Given the description of an element on the screen output the (x, y) to click on. 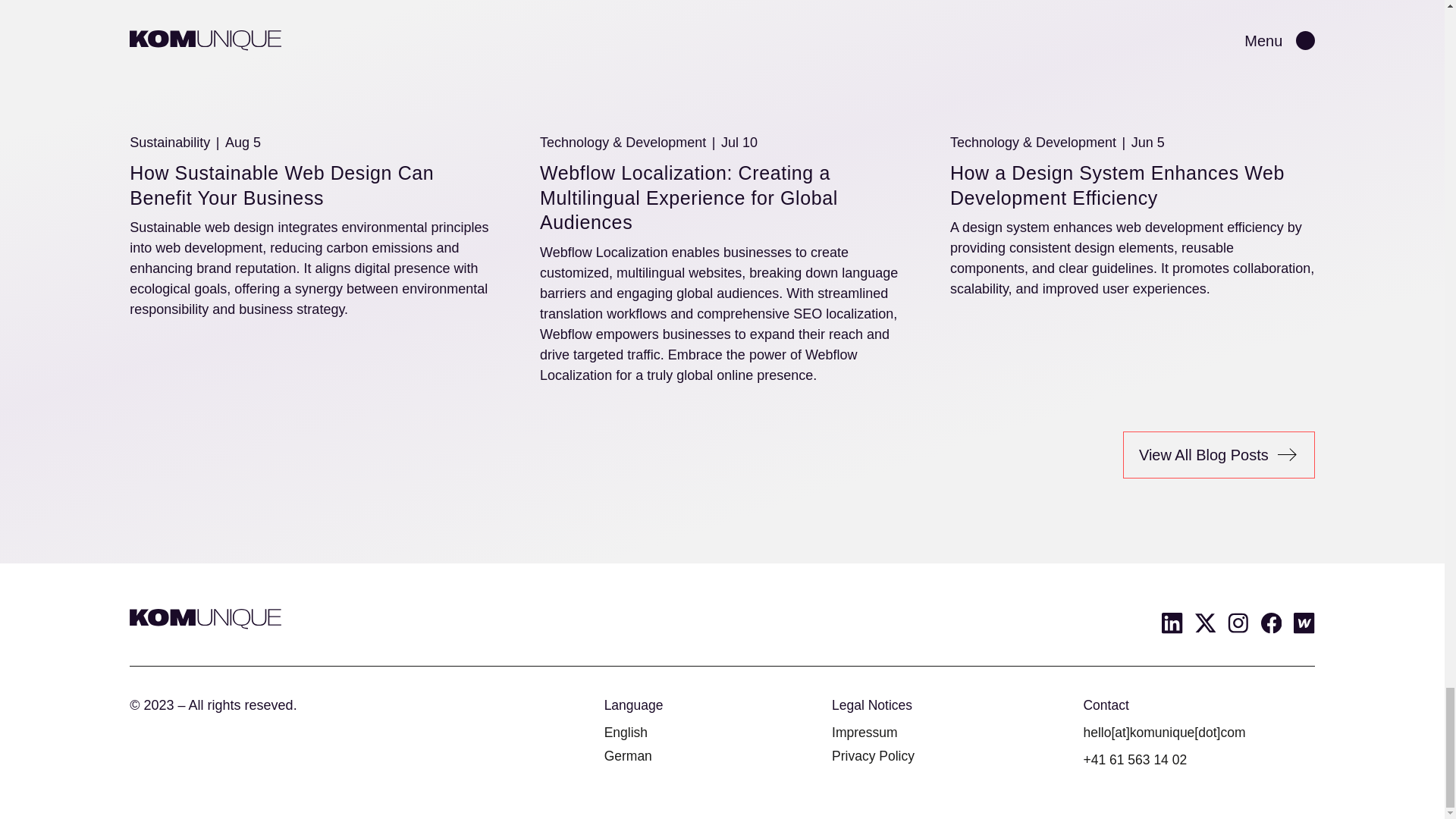
Impressum (864, 732)
Privacy Policy (872, 755)
View All Blog Posts (1218, 454)
English (625, 732)
German (628, 755)
